Given the description of an element on the screen output the (x, y) to click on. 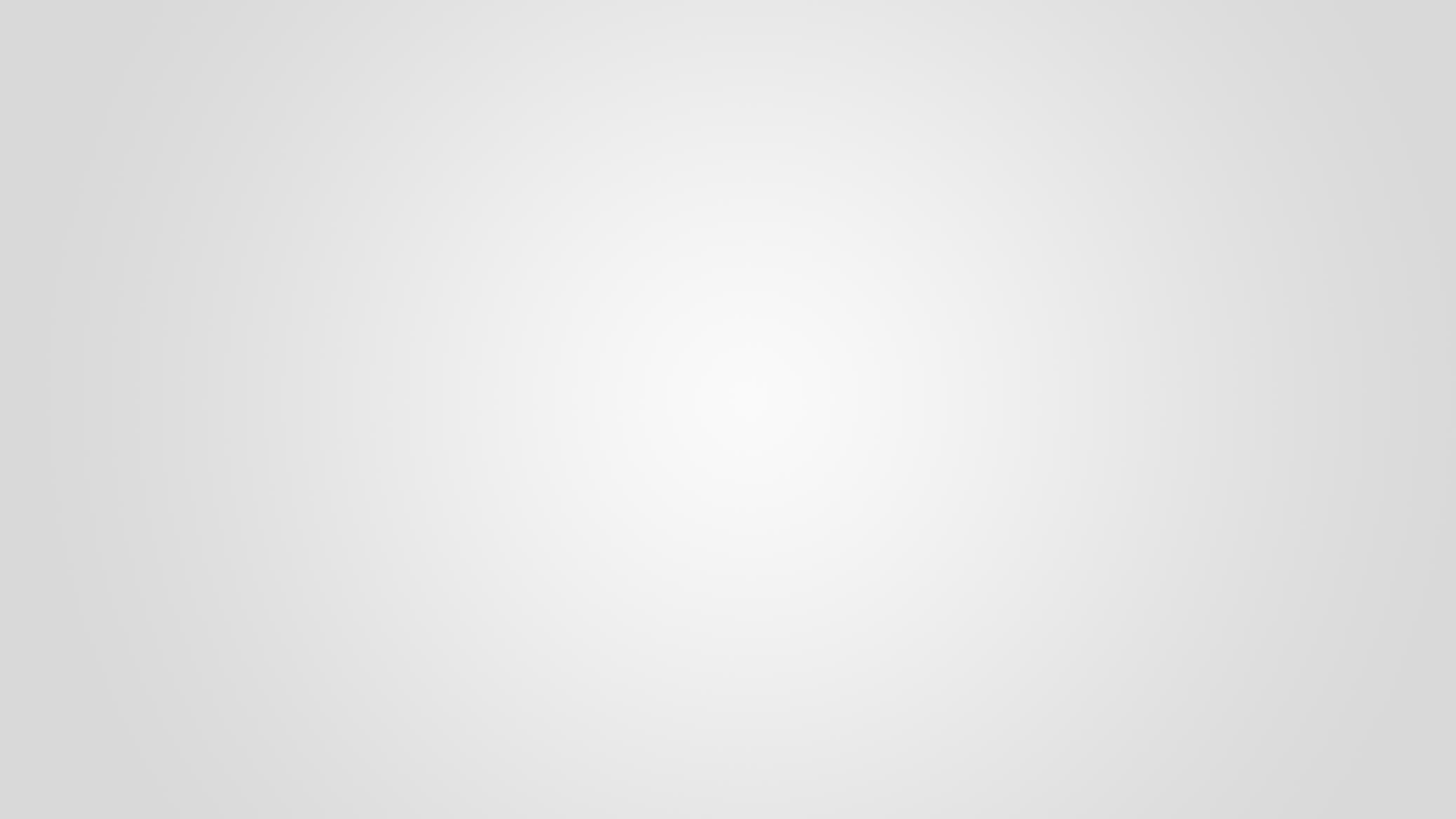
Overslaan en naar de inhoud gaan Element type: text (80, 0)
